Given the description of an element on the screen output the (x, y) to click on. 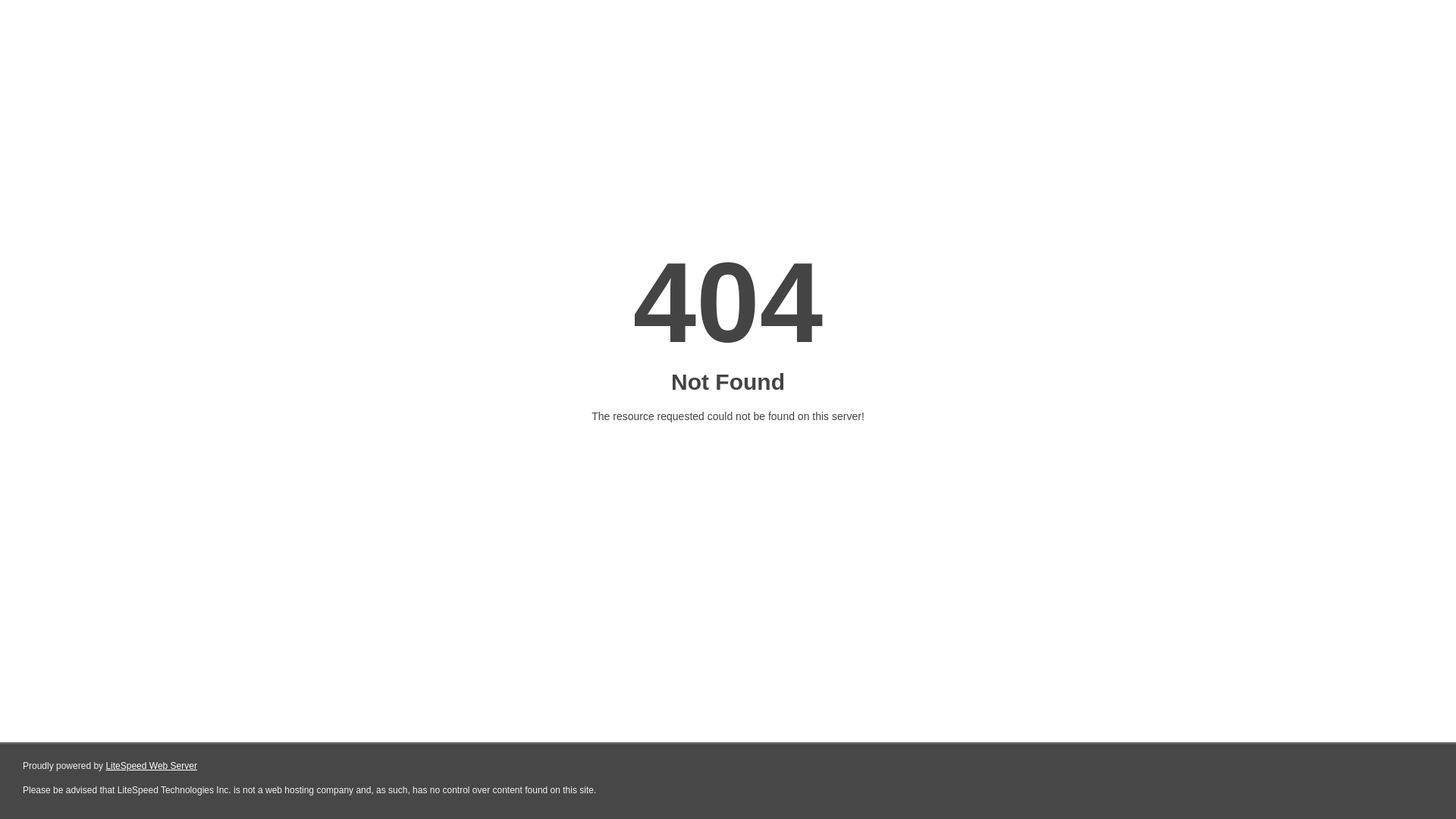
LiteSpeed Web Server Element type: text (151, 765)
